Given the description of an element on the screen output the (x, y) to click on. 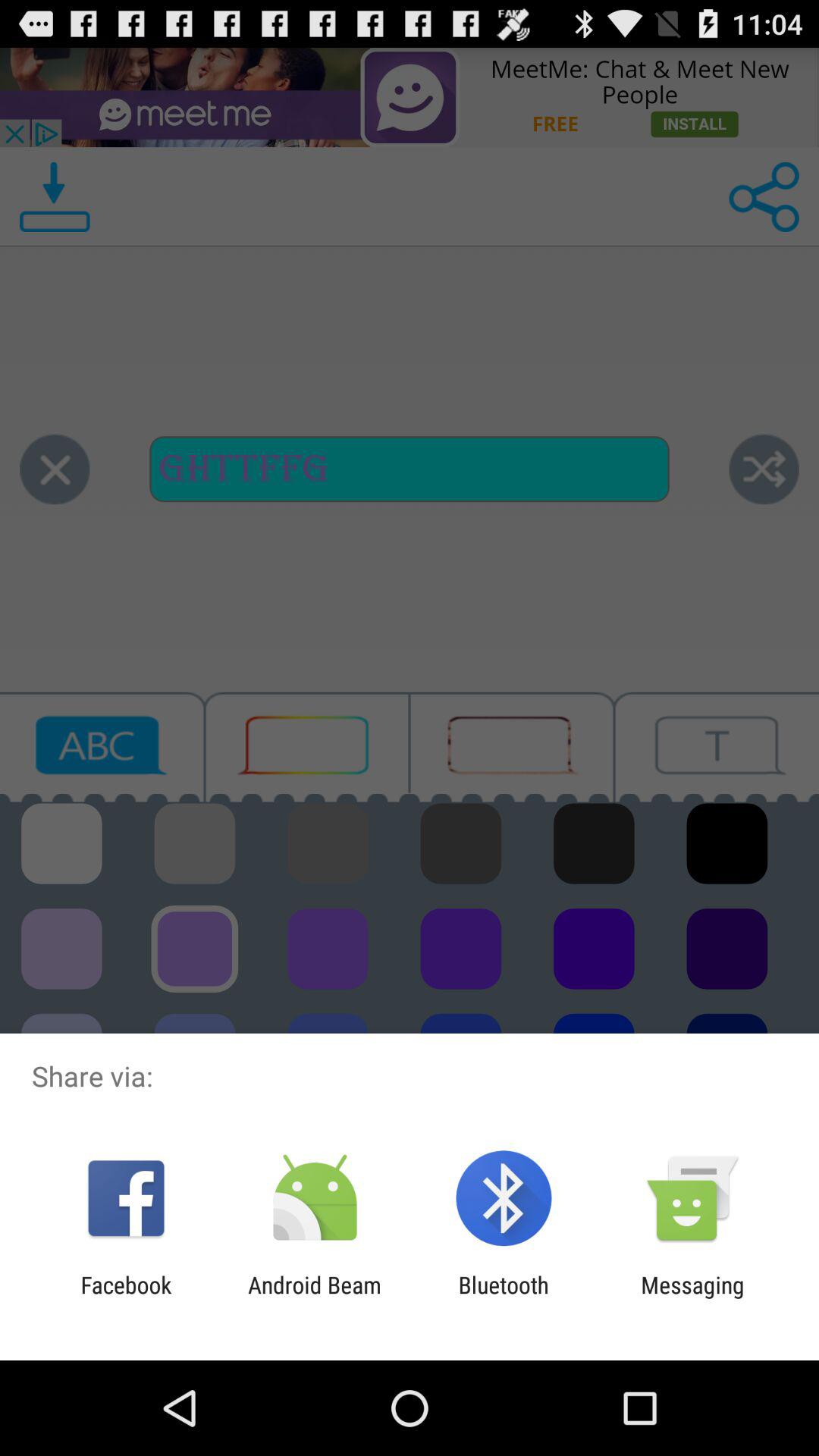
press facebook icon (125, 1298)
